Given the description of an element on the screen output the (x, y) to click on. 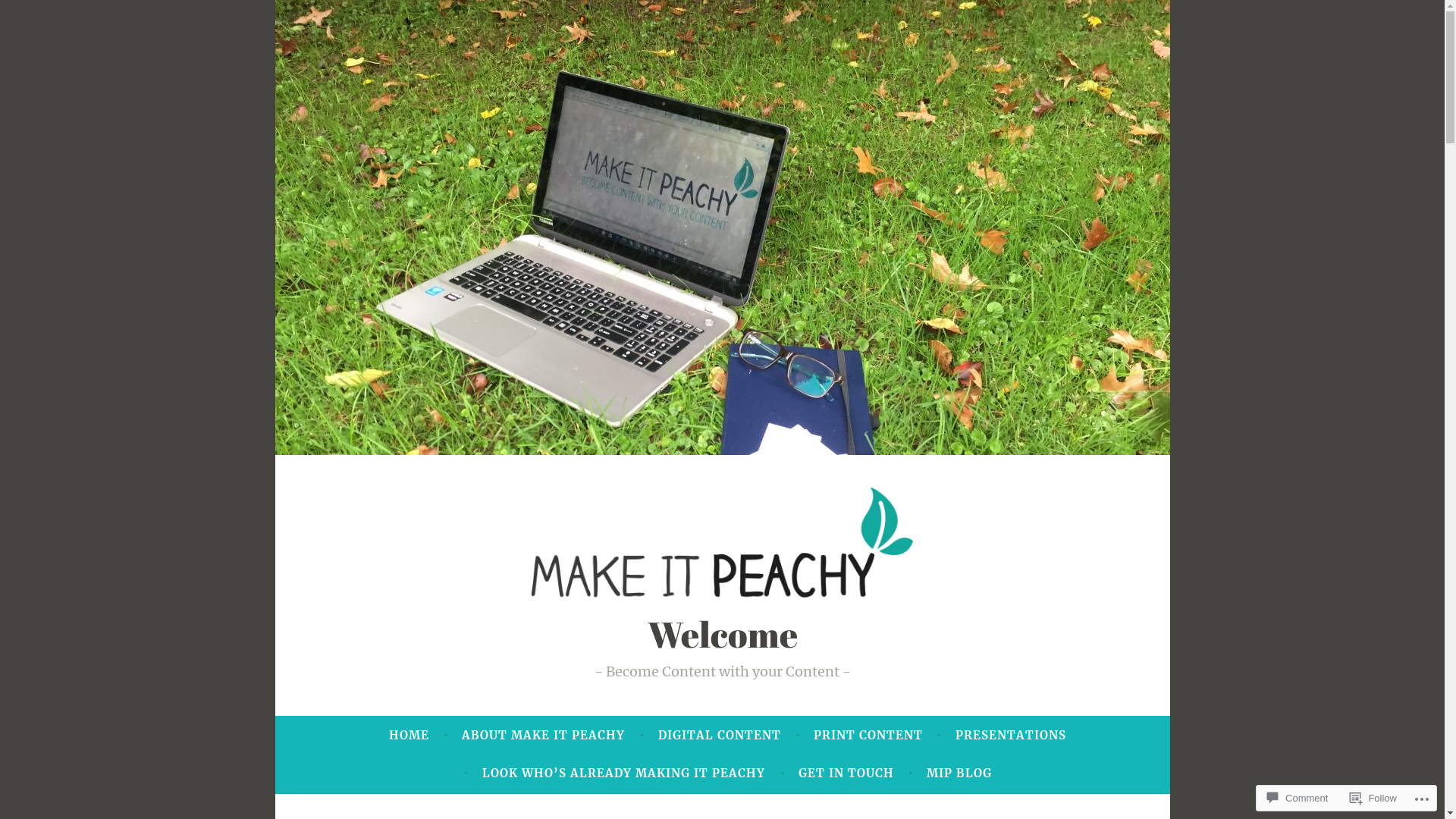
HOME Element type: text (409, 735)
GET IN TOUCH Element type: text (846, 773)
Welcome Element type: text (722, 633)
MIP BLOG Element type: text (958, 773)
Comment Element type: text (1297, 797)
ABOUT MAKE IT PEACHY Element type: text (542, 735)
DIGITAL CONTENT Element type: text (719, 735)
PRINT CONTENT Element type: text (867, 735)
Follow Element type: text (1372, 797)
PRESENTATIONS Element type: text (1010, 735)
